Given the description of an element on the screen output the (x, y) to click on. 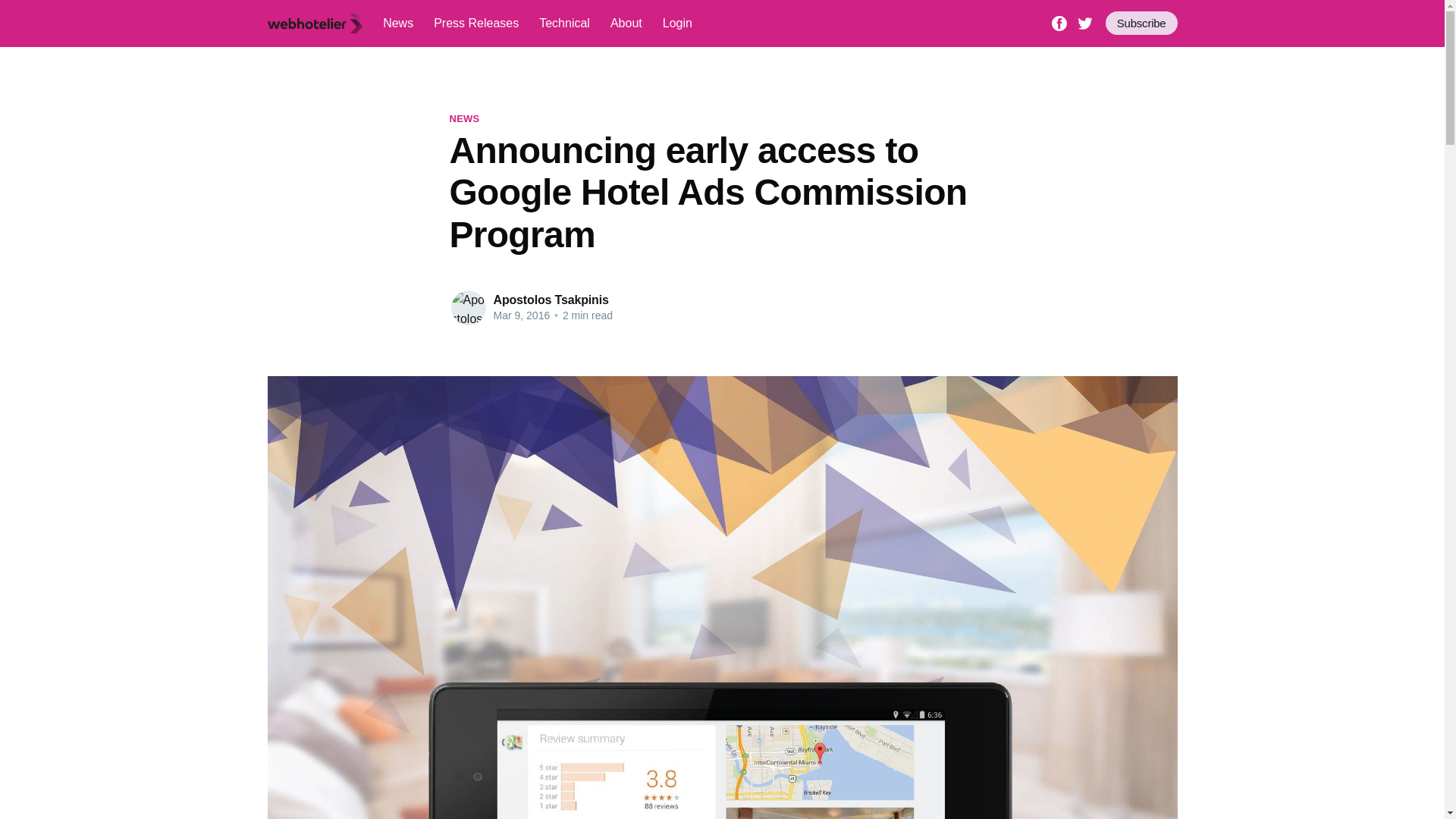
NEWS (463, 119)
About (626, 22)
Login (677, 22)
Subscribe (1141, 23)
Press Releases (475, 22)
Facebook (1059, 21)
Technical (563, 22)
Apostolos Tsakpinis (550, 299)
Twitter (1085, 21)
News (397, 22)
